Given the description of an element on the screen output the (x, y) to click on. 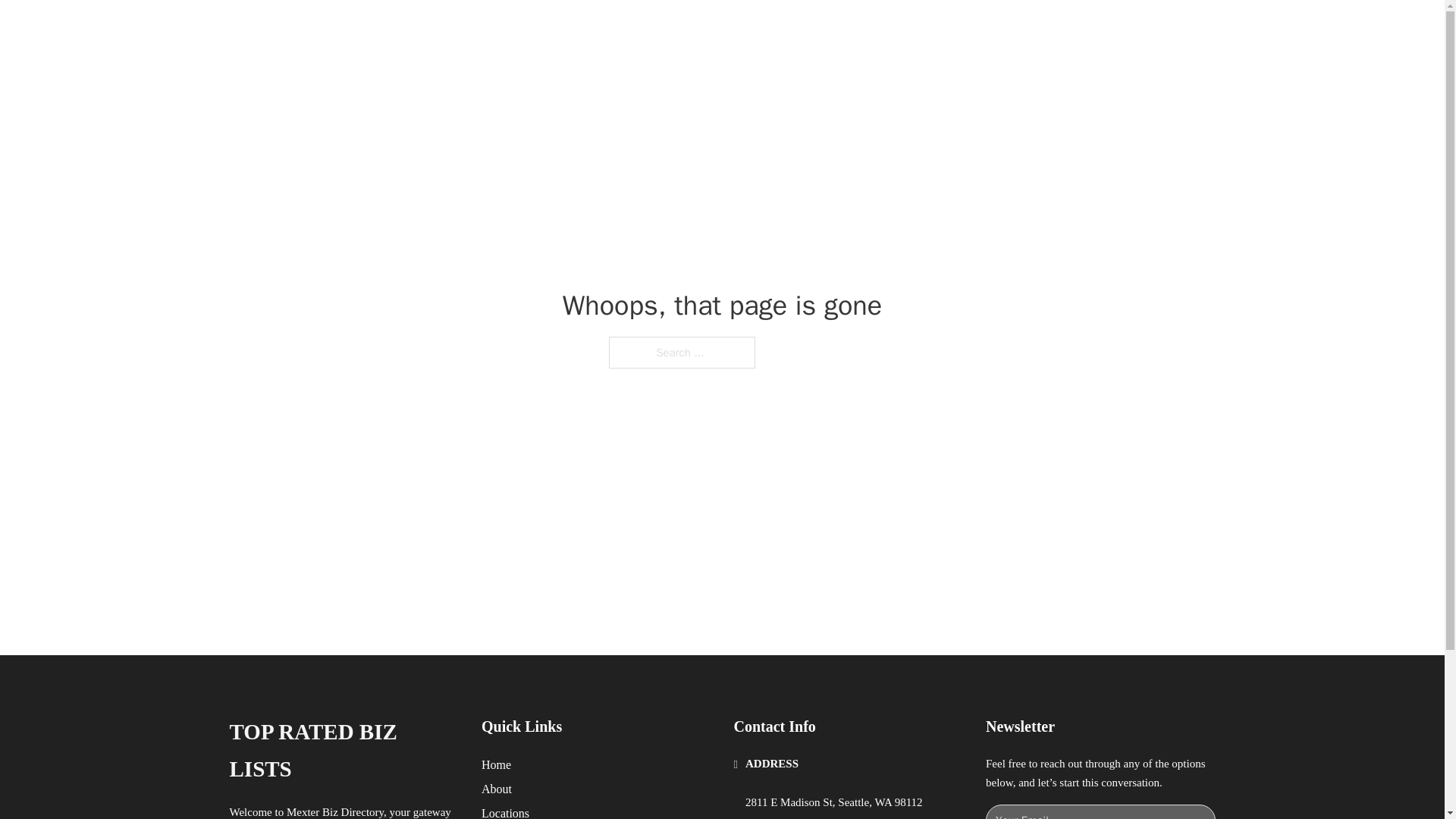
HOME (1025, 31)
TOP RATED BIZ LISTS (343, 750)
TOP RATED BIZ LISTS (358, 31)
LOCATIONS (1098, 31)
About (496, 788)
Home (496, 764)
Locations (505, 811)
